Given the description of an element on the screen output the (x, y) to click on. 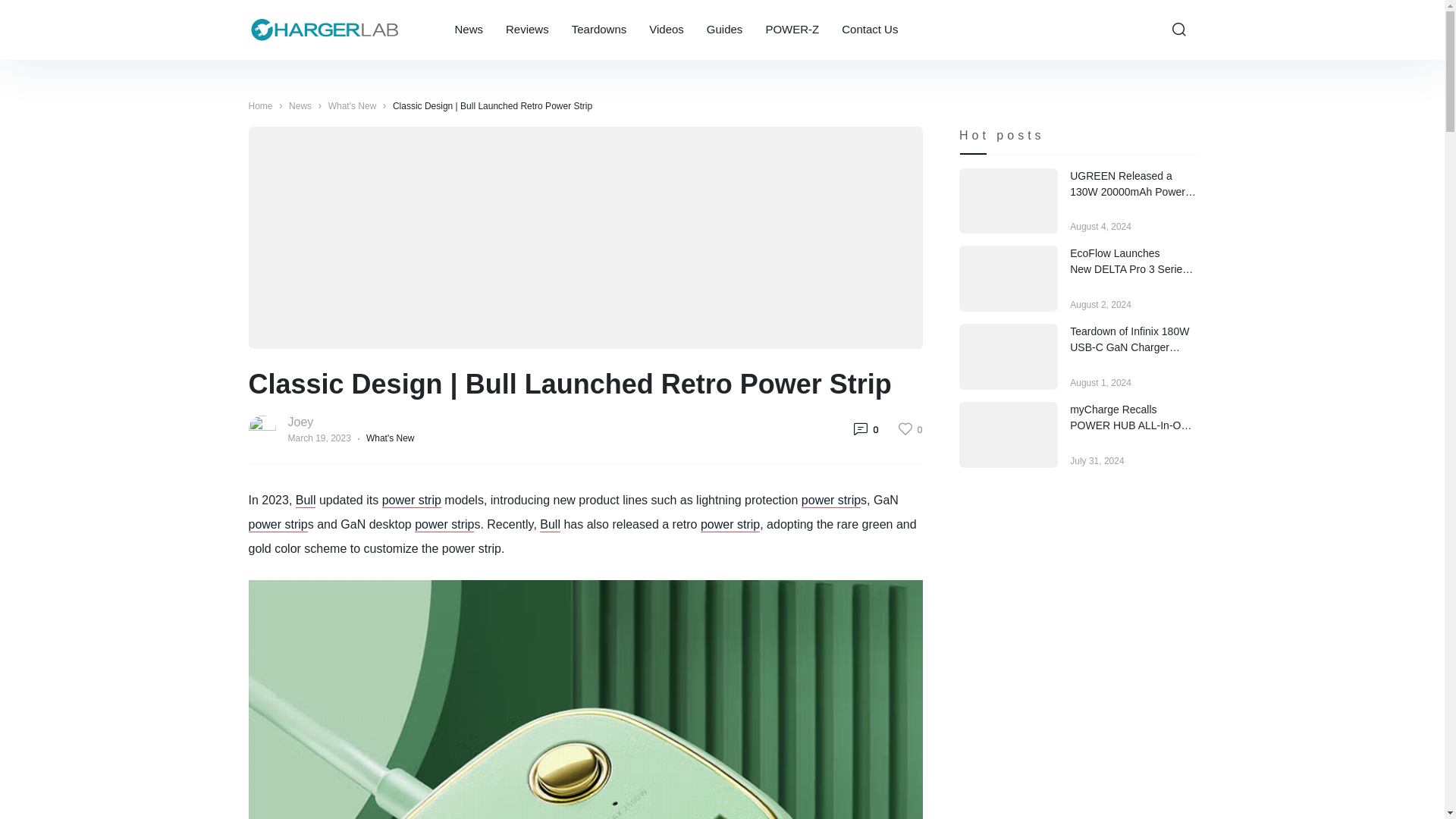
View all posts in Bull (550, 524)
Search (1178, 29)
Home (260, 104)
Guides (727, 29)
News (471, 29)
Contact Us (786, 29)
View all posts in power strip (869, 29)
Teardowns (277, 524)
Reviews (601, 29)
POWER-Z (529, 29)
Videos (793, 29)
